Given the description of an element on the screen output the (x, y) to click on. 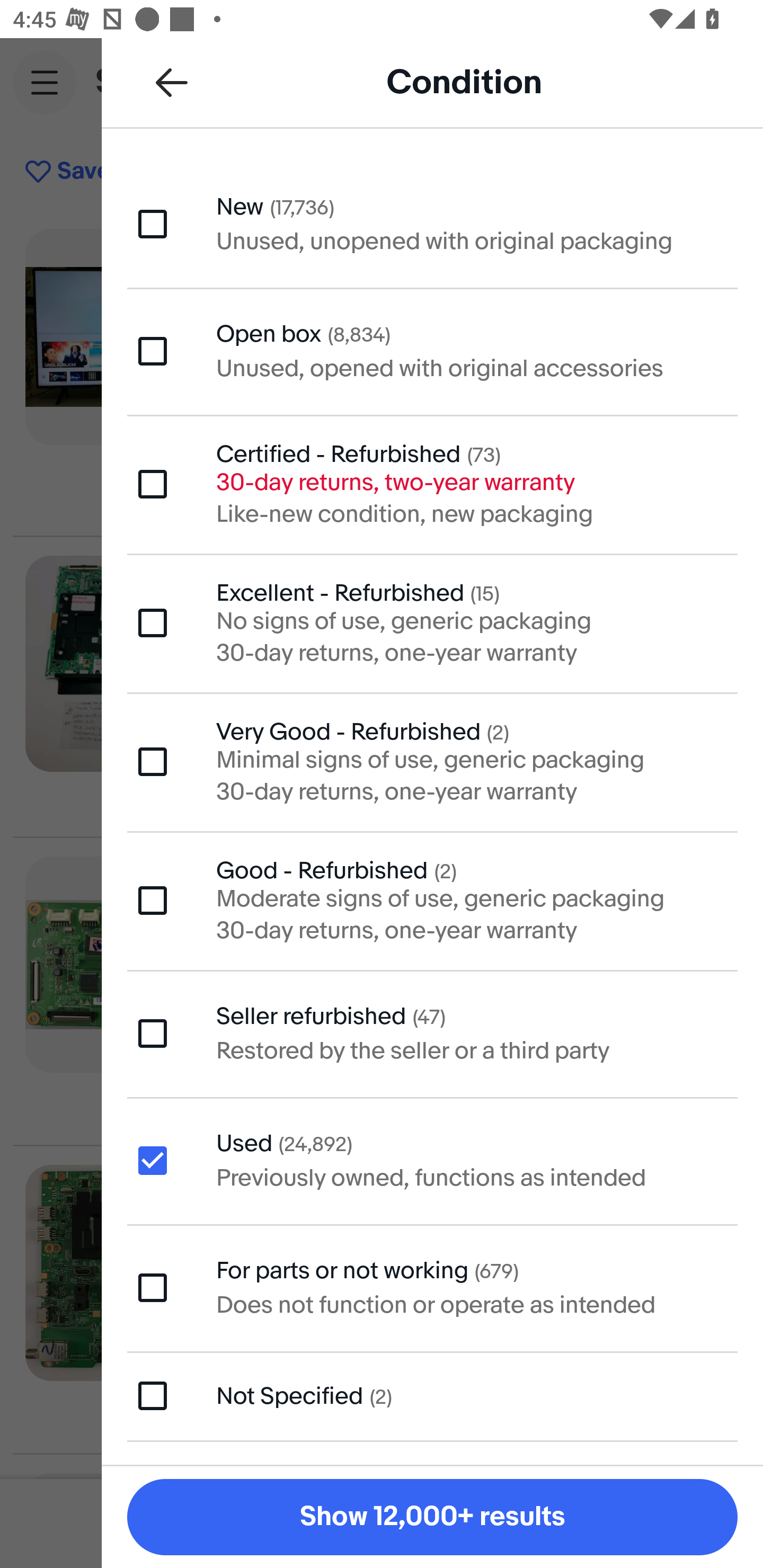
Back to all refinements (171, 81)
Not Specified (2) (432, 1395)
Show 12,000+ results (432, 1516)
